Given the description of an element on the screen output the (x, y) to click on. 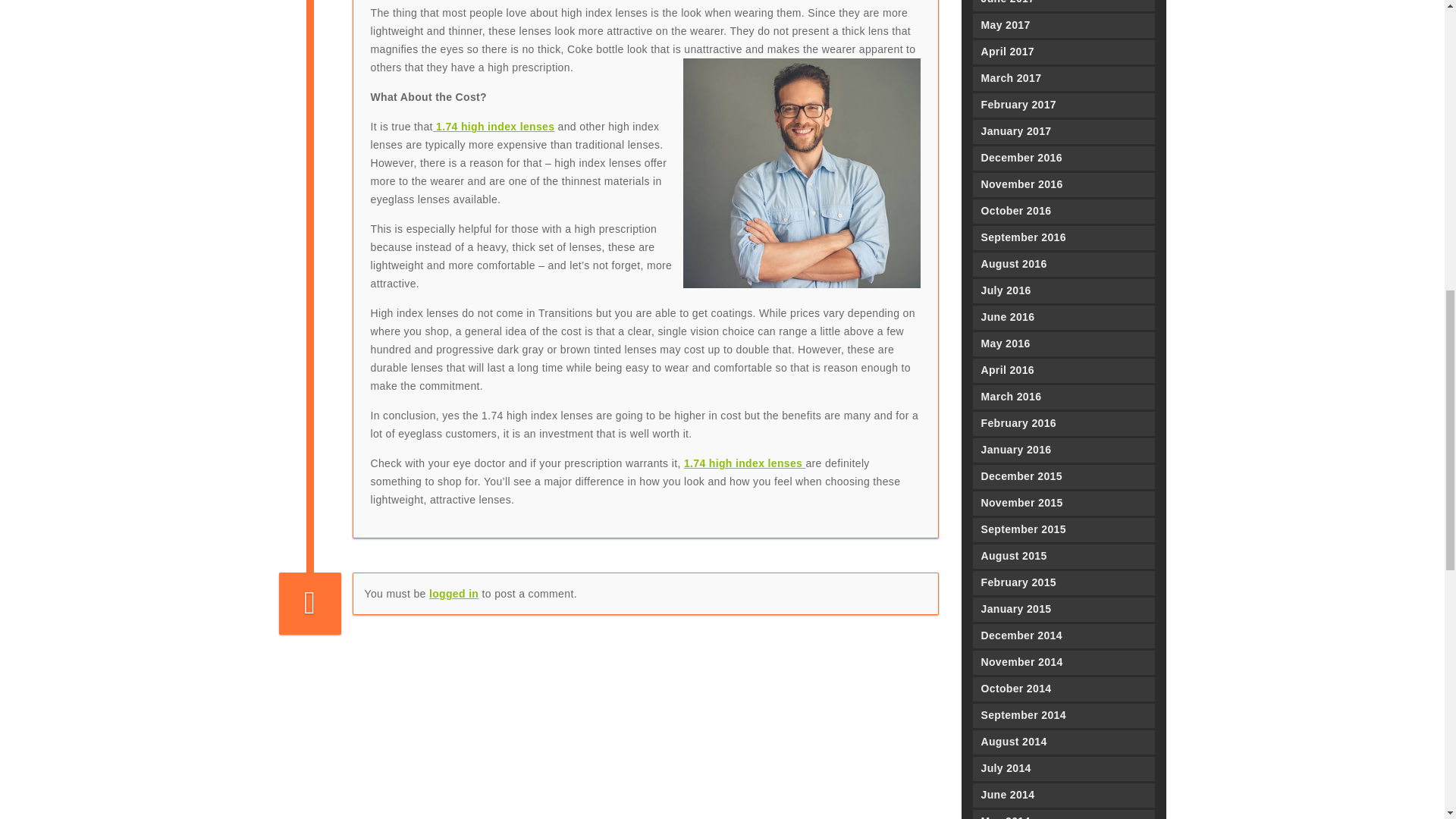
June 2017 (1063, 5)
December 2016 (1063, 158)
August 2016 (1063, 264)
November 2016 (1063, 184)
October 2016 (1063, 211)
February 2017 (1063, 105)
May 2017 (1063, 25)
September 2016 (1063, 238)
January 2017 (1063, 131)
March 2017 (1063, 78)
